Given the description of an element on the screen output the (x, y) to click on. 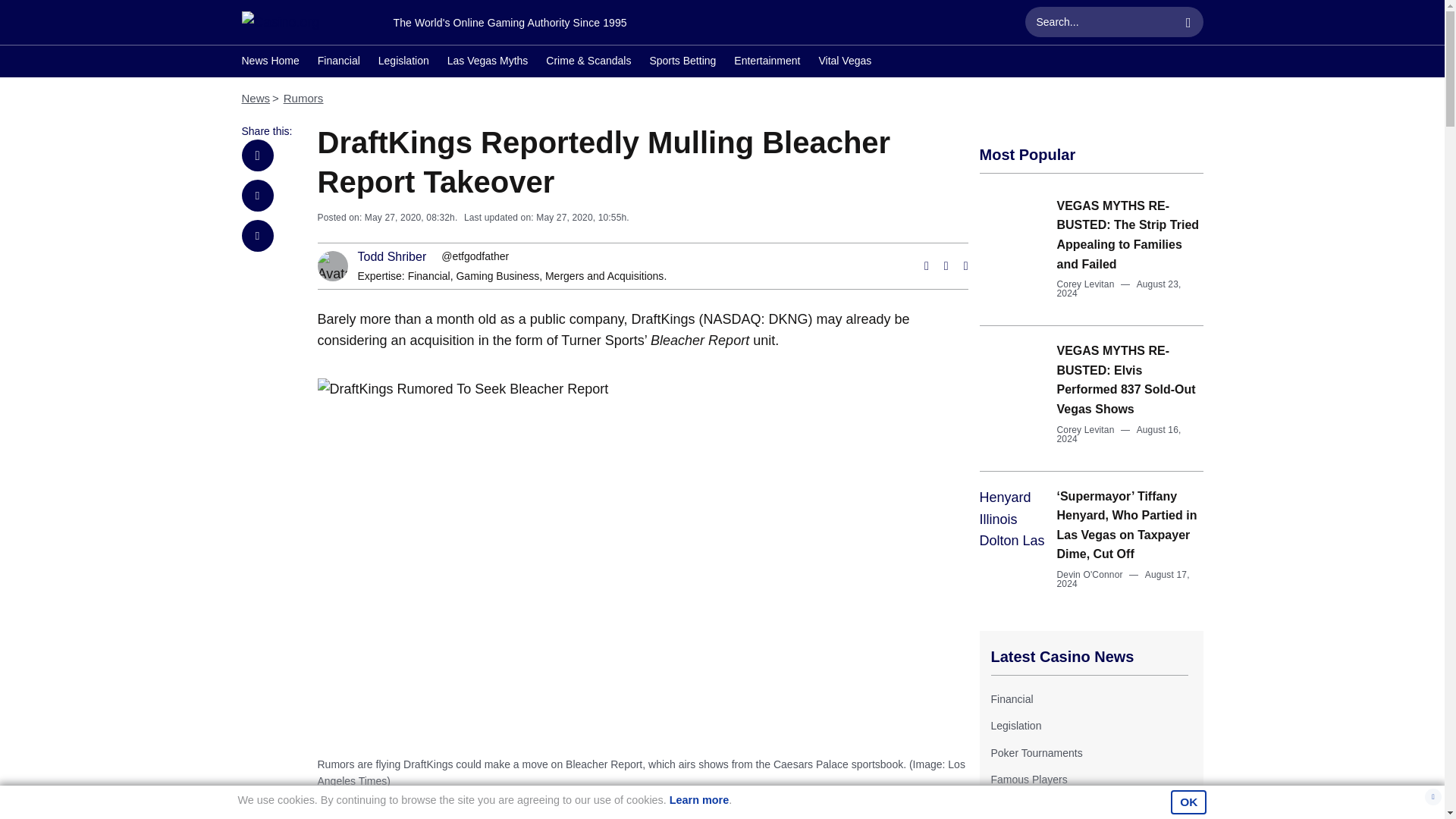
Entertainment (766, 61)
Todd Shriber (392, 256)
Legislation (1015, 725)
News (255, 97)
Vital Vegas (845, 61)
Sports Betting (682, 61)
Famous Players (1028, 779)
Gaming Business (496, 275)
Gaming Business (496, 275)
